Given the description of an element on the screen output the (x, y) to click on. 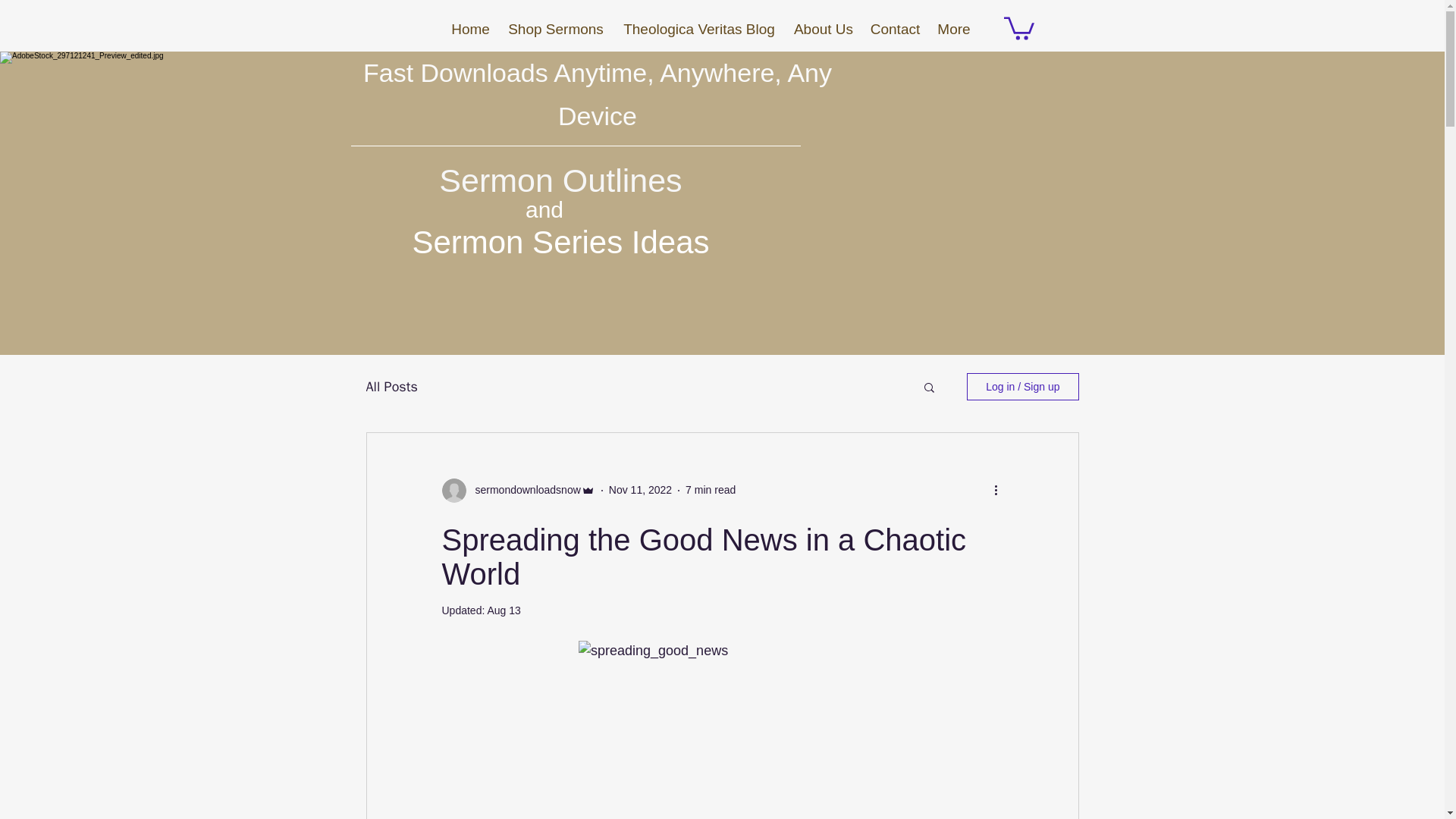
Nov 11, 2022 (639, 490)
Shop Sermons (555, 29)
About Us (823, 29)
sermondownloadsnow (522, 489)
Contact (894, 29)
Home (470, 29)
7 min read (710, 490)
Aug 13 (502, 610)
All Posts (390, 386)
Theologica Veritas Blog (698, 29)
